Given the description of an element on the screen output the (x, y) to click on. 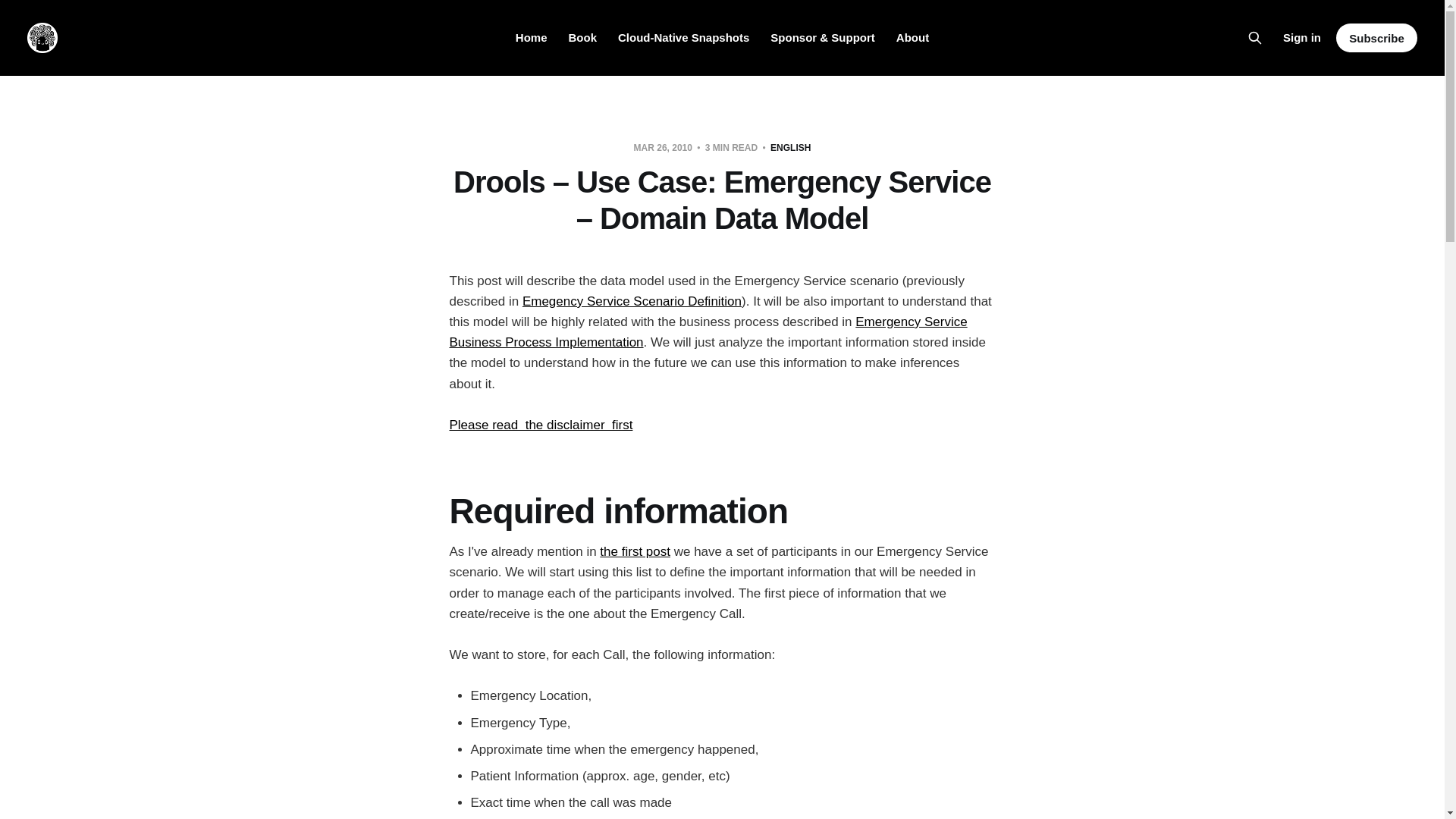
Sign in (1301, 37)
ENGLISH (790, 147)
Cloud-Native Snapshots (683, 37)
Emegency Service Scenario Definition (631, 301)
the first post (634, 551)
Subscribe (1376, 37)
About (912, 37)
Book (582, 37)
Emergency Service Business Process Implementation (707, 331)
Home (531, 37)
